Given the description of an element on the screen output the (x, y) to click on. 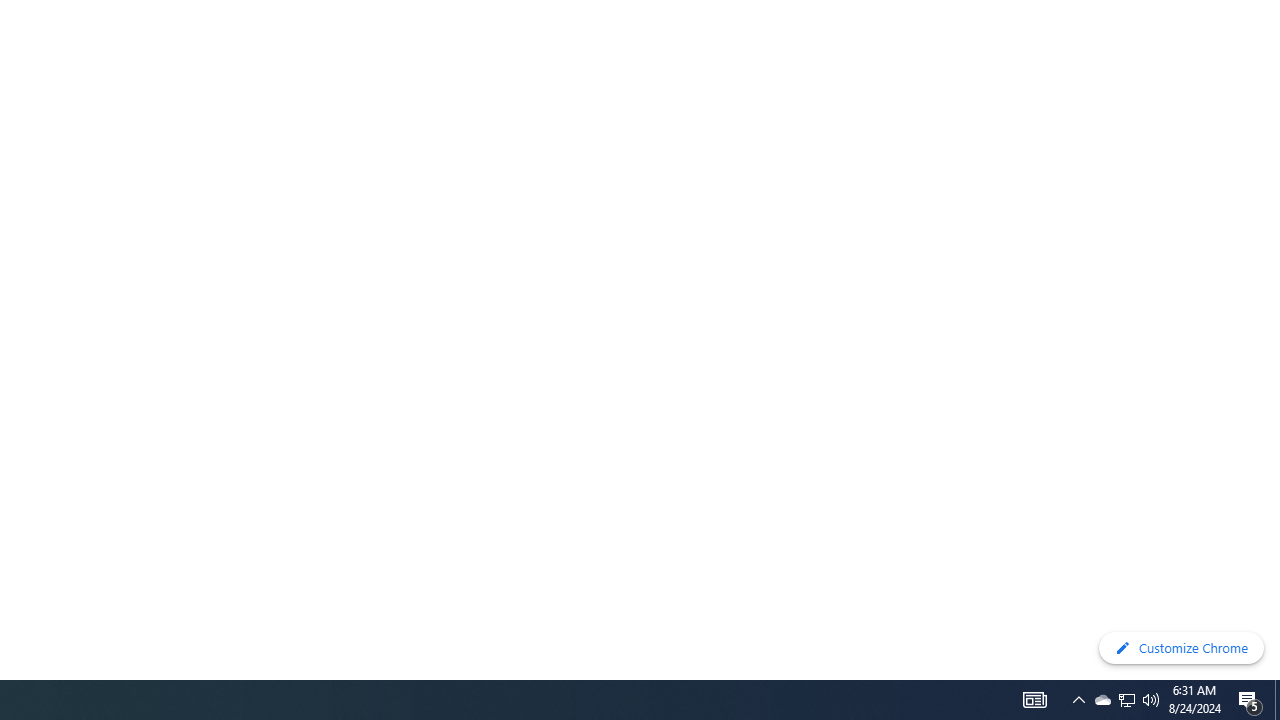
Customize Chrome (1181, 647)
